Given the description of an element on the screen output the (x, y) to click on. 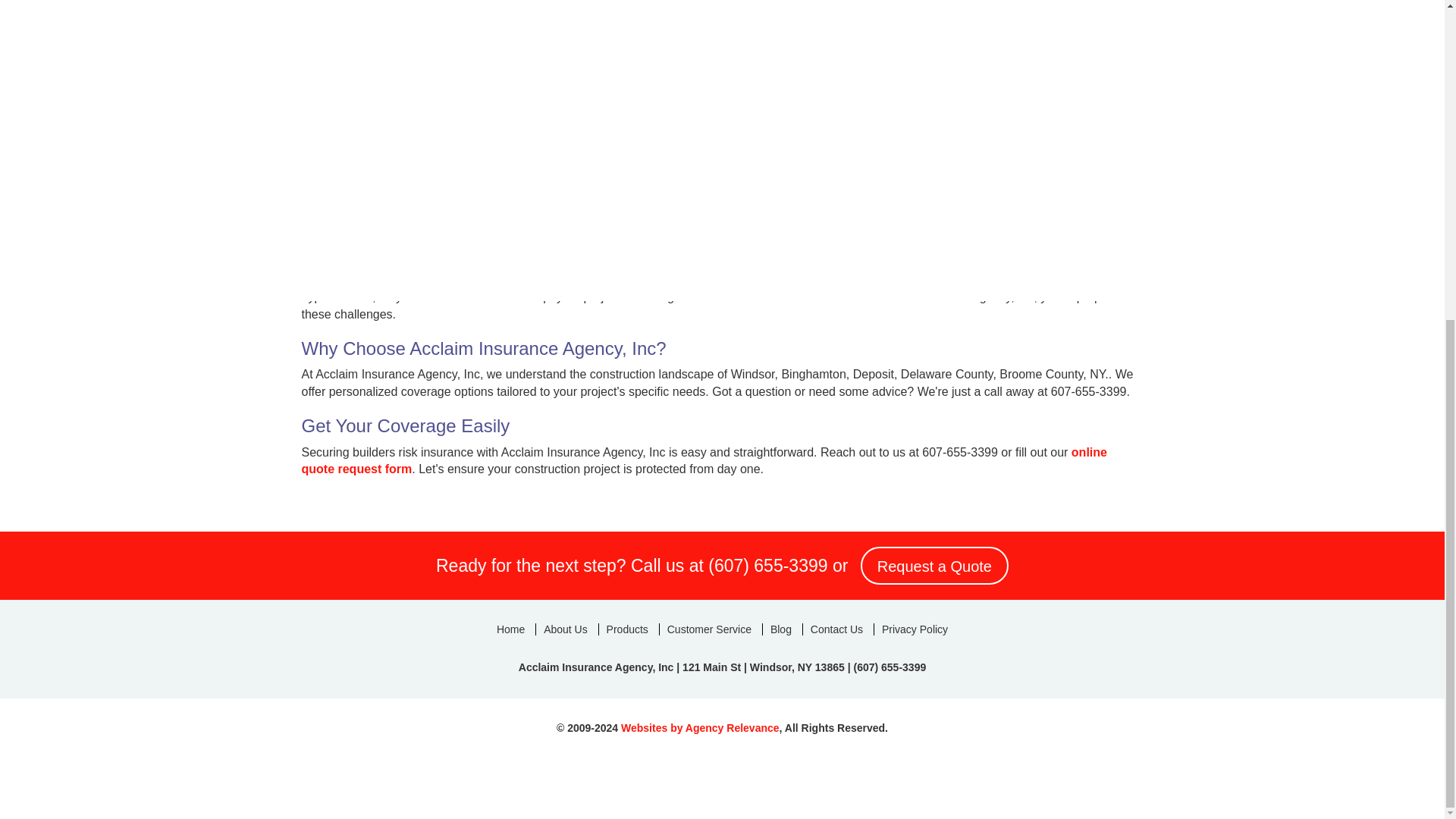
Customer Service (708, 629)
About Us (565, 629)
Products (627, 629)
Request a Quote (934, 565)
Contact Us (836, 629)
Websites by Agency Relevance (699, 727)
online quote request form (703, 460)
Blog (780, 629)
Privacy Policy (914, 629)
Home (510, 629)
